Given the description of an element on the screen output the (x, y) to click on. 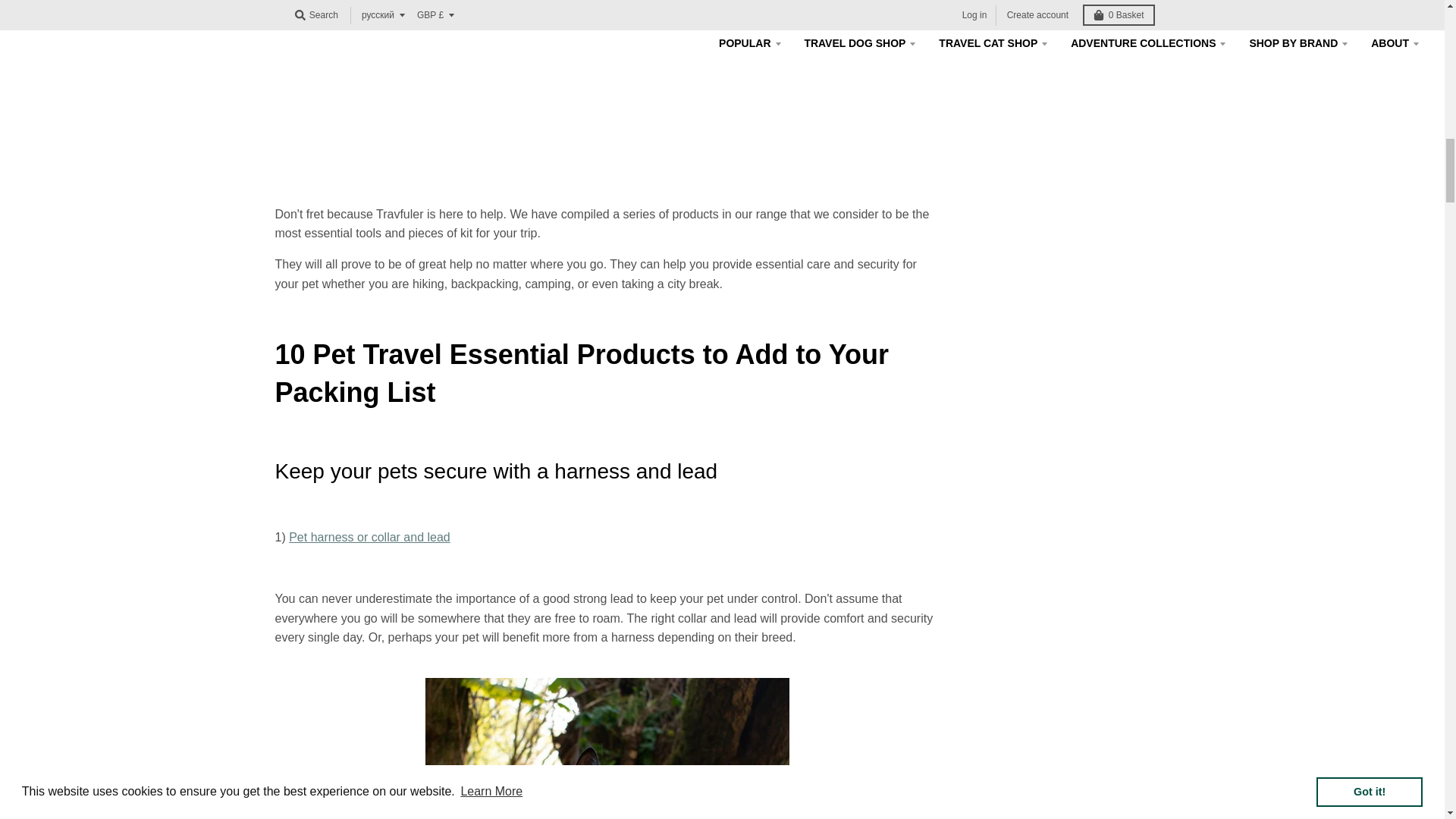
Dog accessories (368, 536)
